Given the description of an element on the screen output the (x, y) to click on. 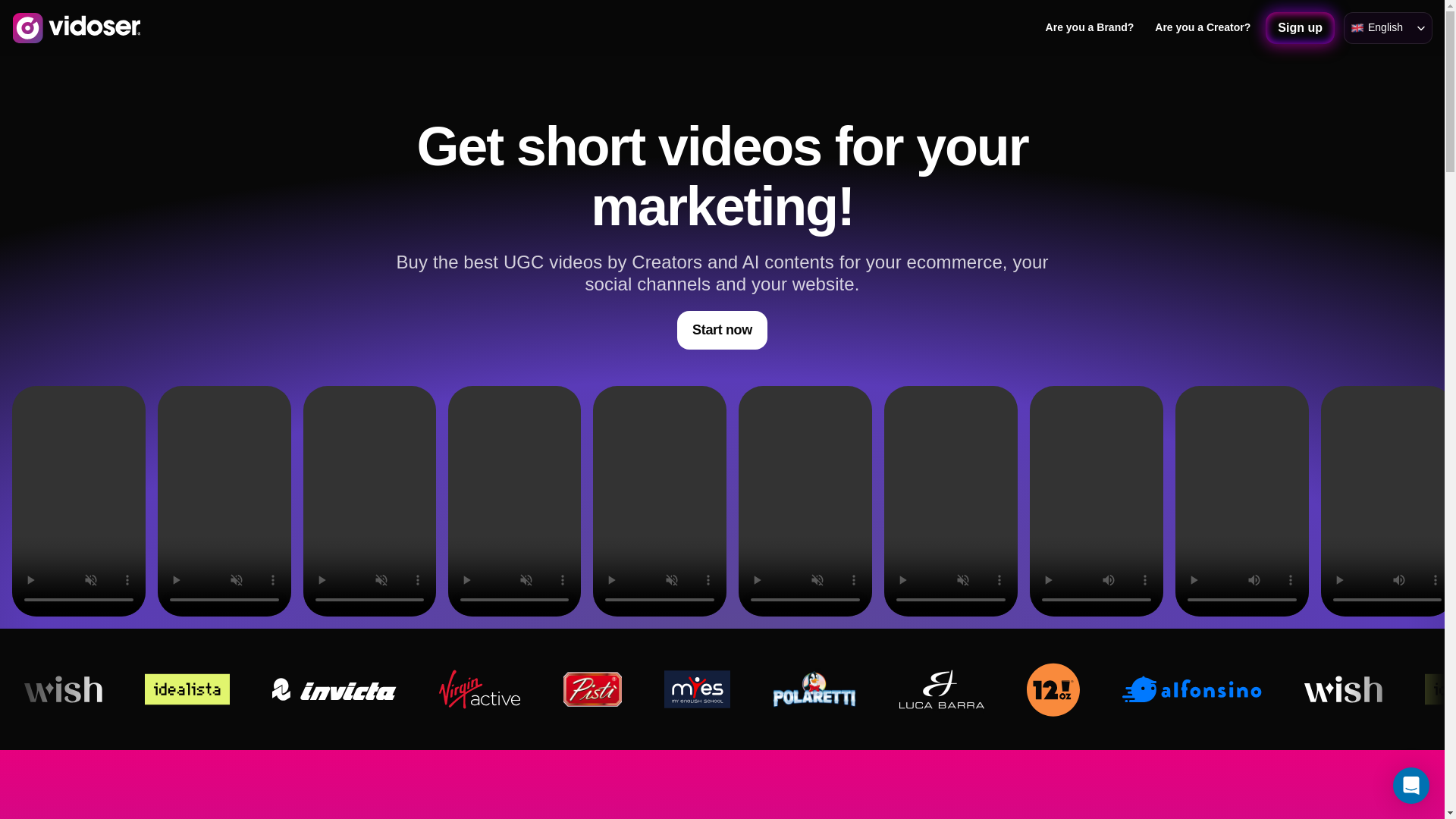
Are you a Brand? (1089, 27)
Are you a Creator? (1202, 27)
Sign up (1300, 28)
Start now (722, 330)
